Given the description of an element on the screen output the (x, y) to click on. 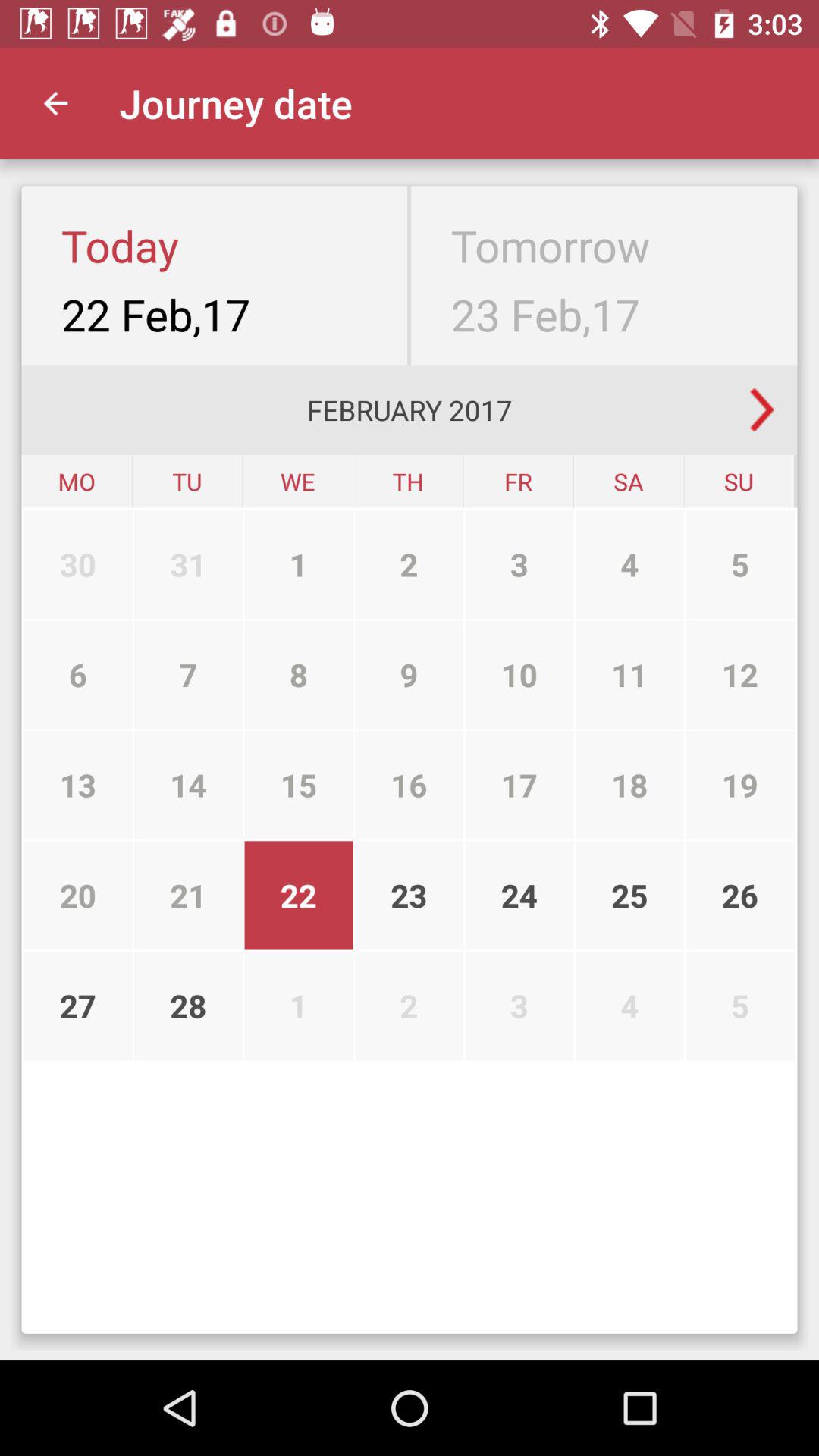
press the 9 icon (408, 674)
